Given the description of an element on the screen output the (x, y) to click on. 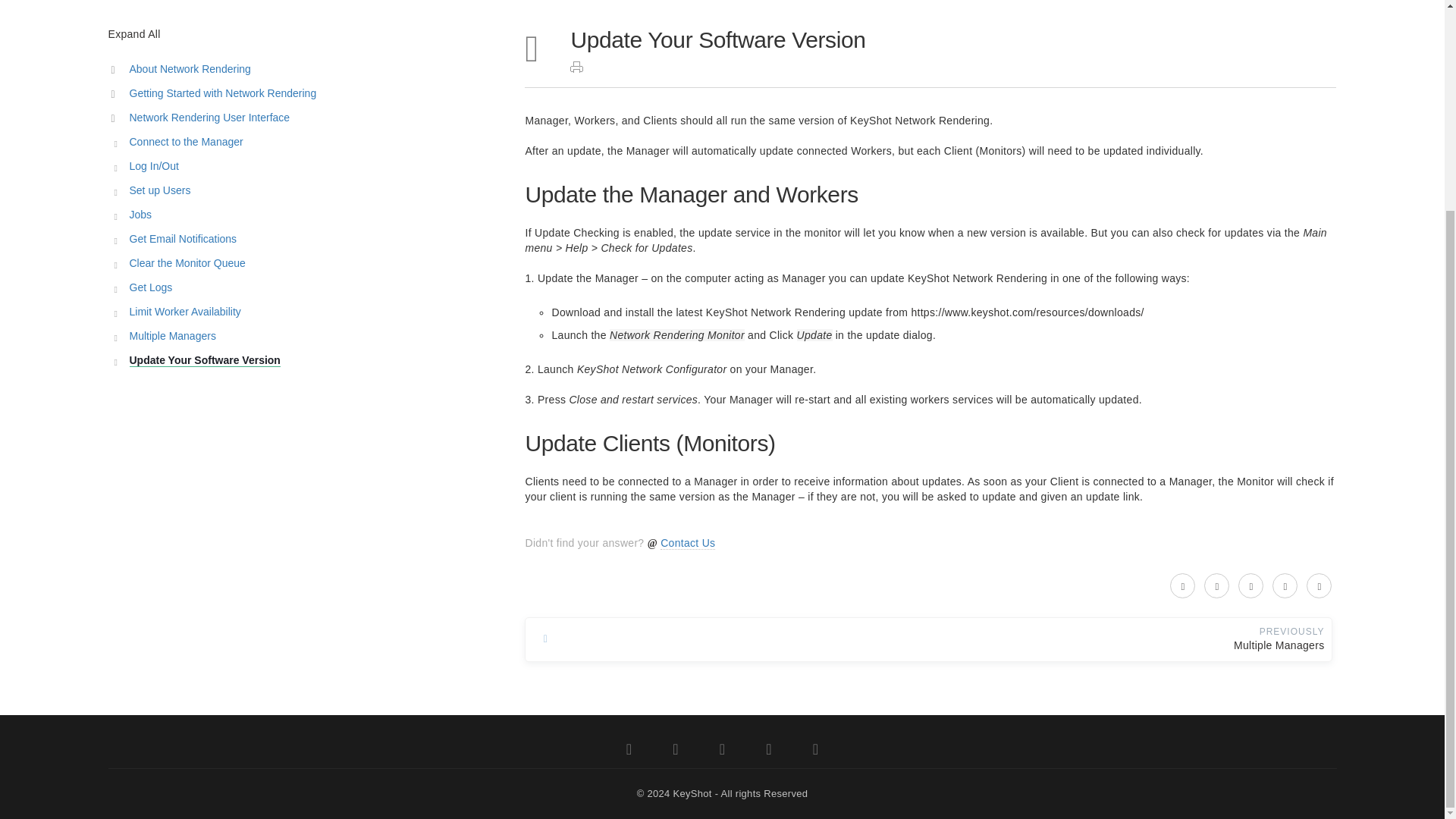
About Network Rendering (297, 69)
Update Your Software Version (297, 361)
Multiple Managers (297, 336)
Linkedin (815, 750)
Get Email Notifications (297, 239)
Jobs (297, 215)
Expand All (133, 34)
Twitter (628, 750)
YouTube (722, 750)
Connect to the Manager (297, 142)
